Given the description of an element on the screen output the (x, y) to click on. 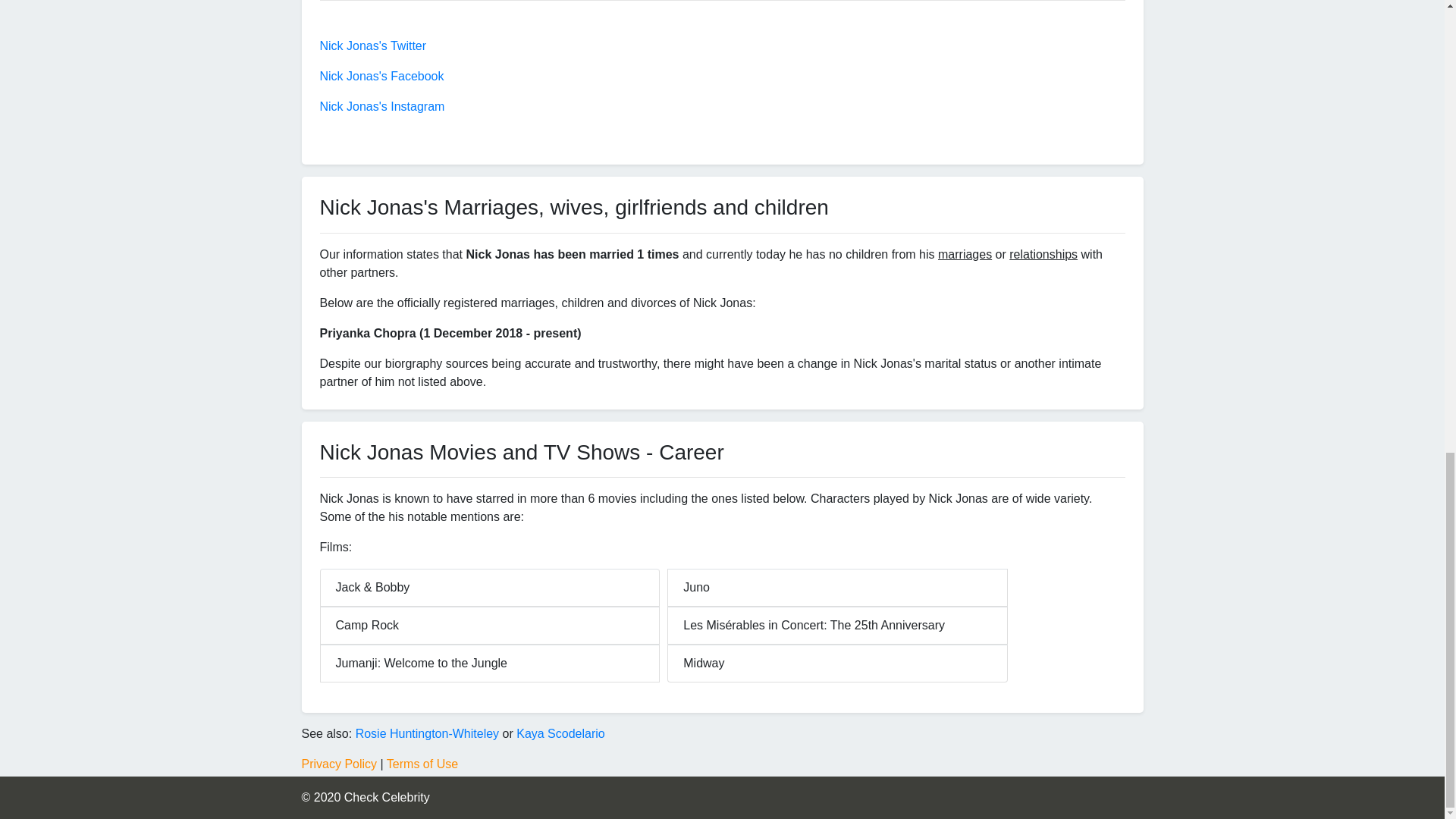
Kaya Scodelario (560, 733)
Nick Jonas's Twitter (373, 45)
Terms of Use (422, 763)
Privacy Policy (339, 763)
Nick Jonas's Facebook (382, 75)
Nick Jonas's Instagram (382, 106)
Check Celebrity (386, 797)
Rosie Huntington-Whiteley (427, 733)
